Given the description of an element on the screen output the (x, y) to click on. 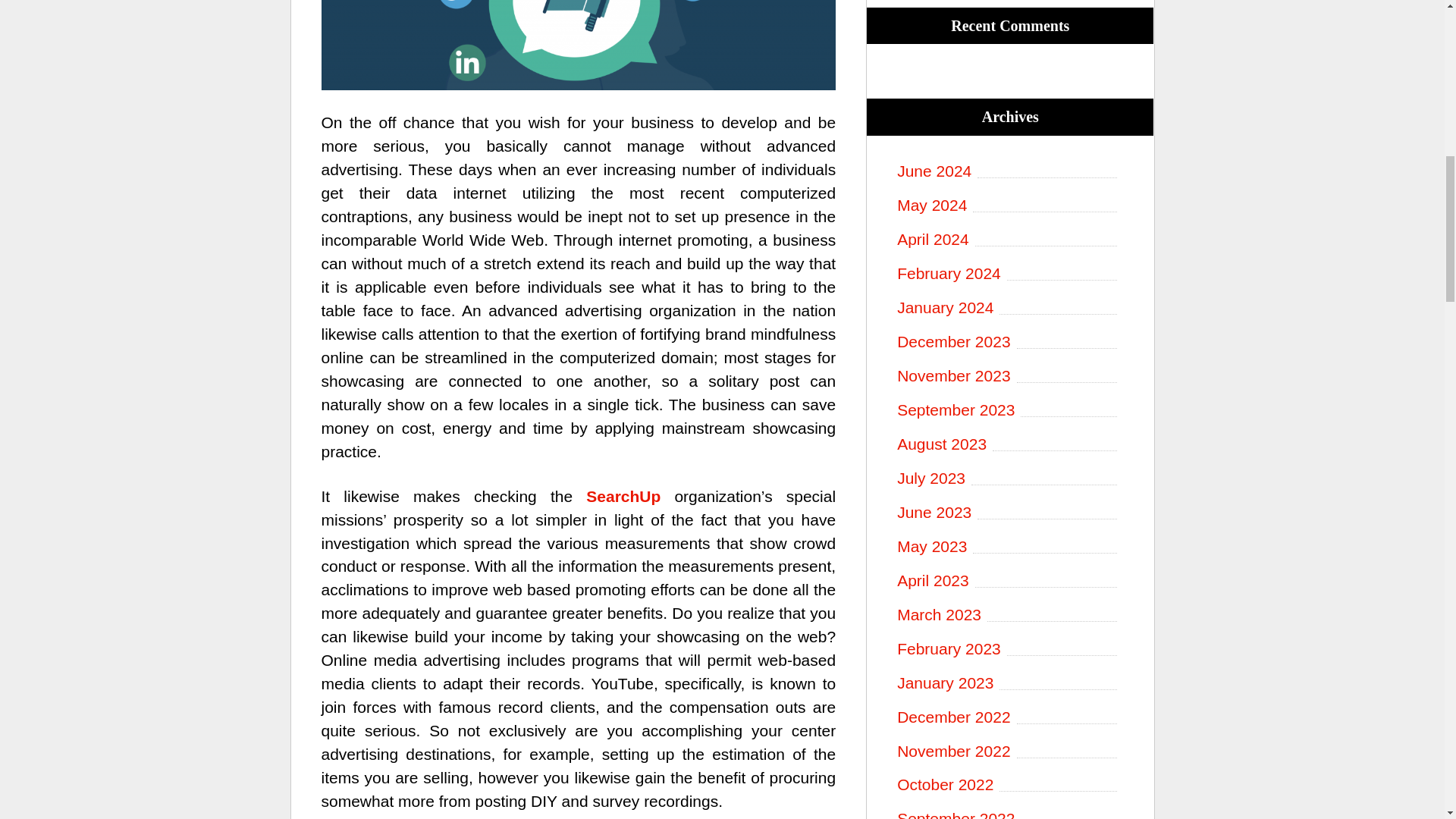
February 2023 (1009, 649)
April 2024 (1009, 239)
August 2023 (1009, 444)
May 2024 (1009, 205)
January 2024 (1009, 308)
June 2024 (1009, 171)
November 2023 (1009, 376)
April 2023 (1009, 580)
February 2024 (1009, 273)
June 2023 (1009, 512)
May 2023 (1009, 546)
July 2023 (1009, 478)
March 2023 (1009, 615)
SearchUp (623, 496)
September 2023 (1009, 410)
